Given the description of an element on the screen output the (x, y) to click on. 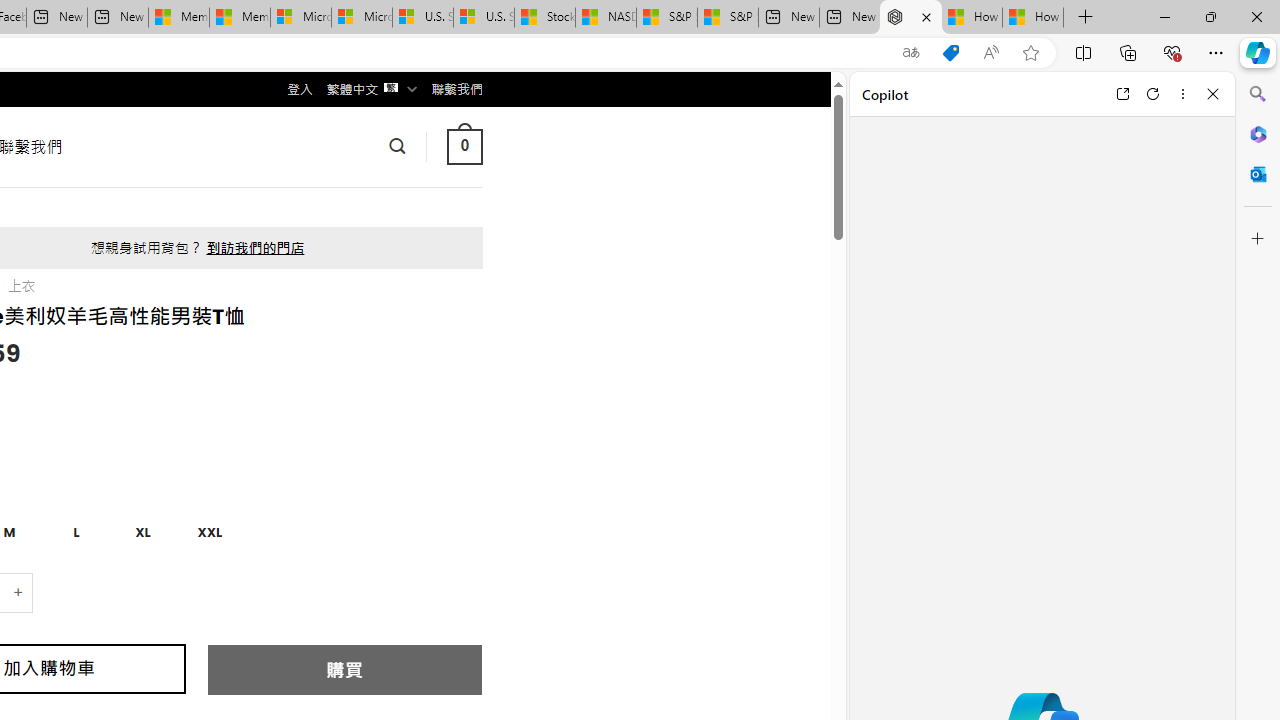
This site has coupons! Shopping in Microsoft Edge (950, 53)
Open link in new tab (1122, 93)
